Given the description of an element on the screen output the (x, y) to click on. 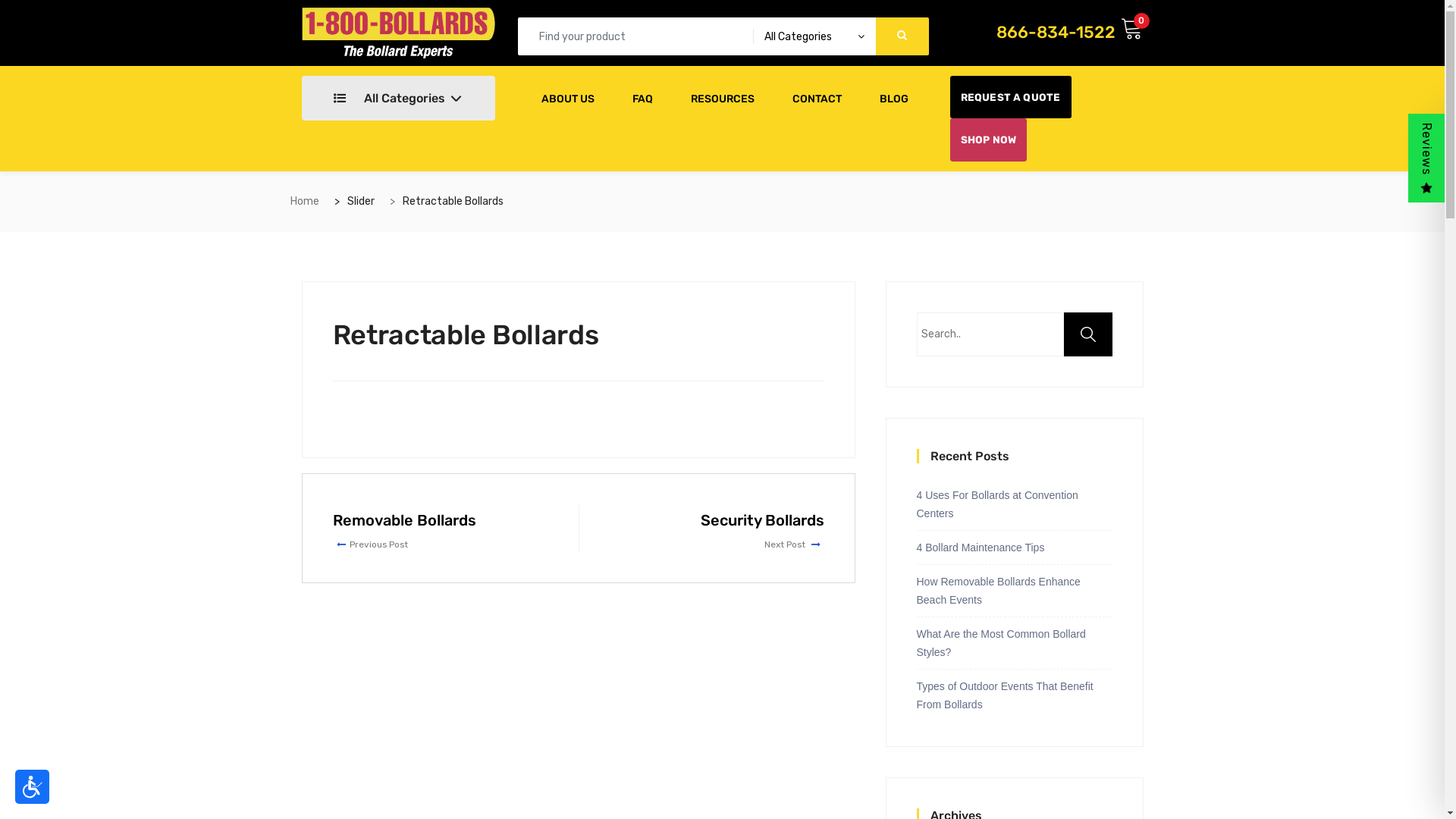
CONTACT Element type: text (816, 98)
RESOURCES Element type: text (722, 98)
Security Bollards
Next Post Element type: text (716, 530)
FAQ Element type: text (641, 98)
All Categories Element type: text (398, 97)
How Removable Bollards Enhance Beach Events Element type: text (1013, 590)
Home Element type: text (303, 200)
What Are the Most Common Bollard Styles? Element type: text (1013, 642)
REQUEST A QUOTE Element type: text (1009, 96)
SHOP NOW Element type: text (987, 139)
0 Element type: text (1131, 29)
866-834-1522 Element type: text (1055, 31)
Removable Bollards
Previous Post Element type: text (439, 530)
ABOUT US Element type: text (566, 98)
BLOG Element type: text (892, 98)
Types of Outdoor Events That Benefit From Bollards Element type: text (1013, 691)
4 Uses For Bollards at Convention Centers Element type: text (1013, 504)
4 Bollard Maintenance Tips Element type: text (980, 547)
